Given the description of an element on the screen output the (x, y) to click on. 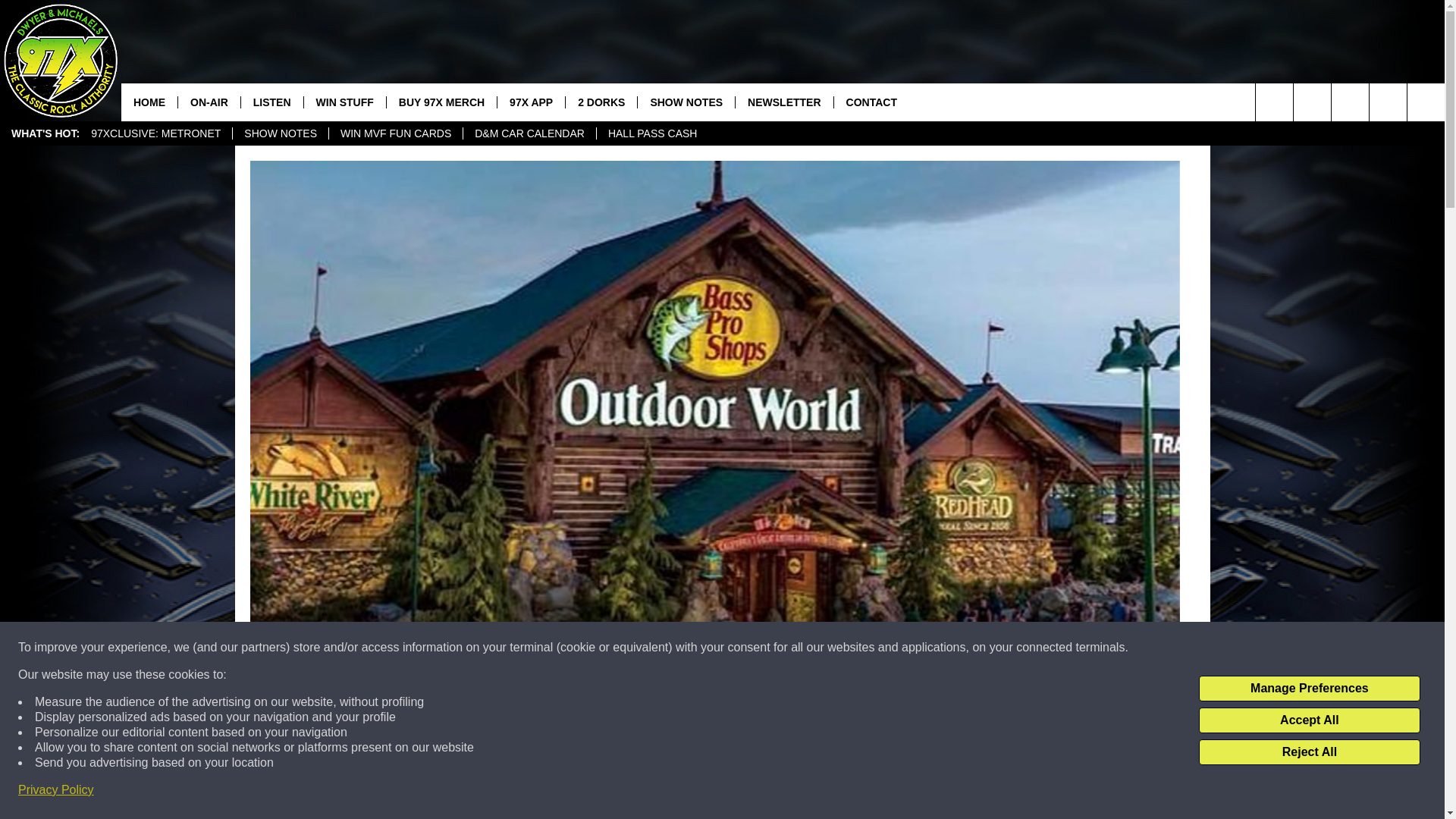
ON-AIR (208, 102)
CONTACT (870, 102)
97X APP (530, 102)
NEWSLETTER (783, 102)
LISTEN (271, 102)
HOME (148, 102)
HALL PASS CASH (652, 133)
Share on Twitter (912, 791)
WIN MVF FUN CARDS (396, 133)
Privacy Policy (55, 789)
97XCLUSIVE: METRONET (155, 133)
Accept All (1309, 720)
BUY 97X MERCH (440, 102)
SHOW NOTES (686, 102)
2 DORKS (600, 102)
